Given the description of an element on the screen output the (x, y) to click on. 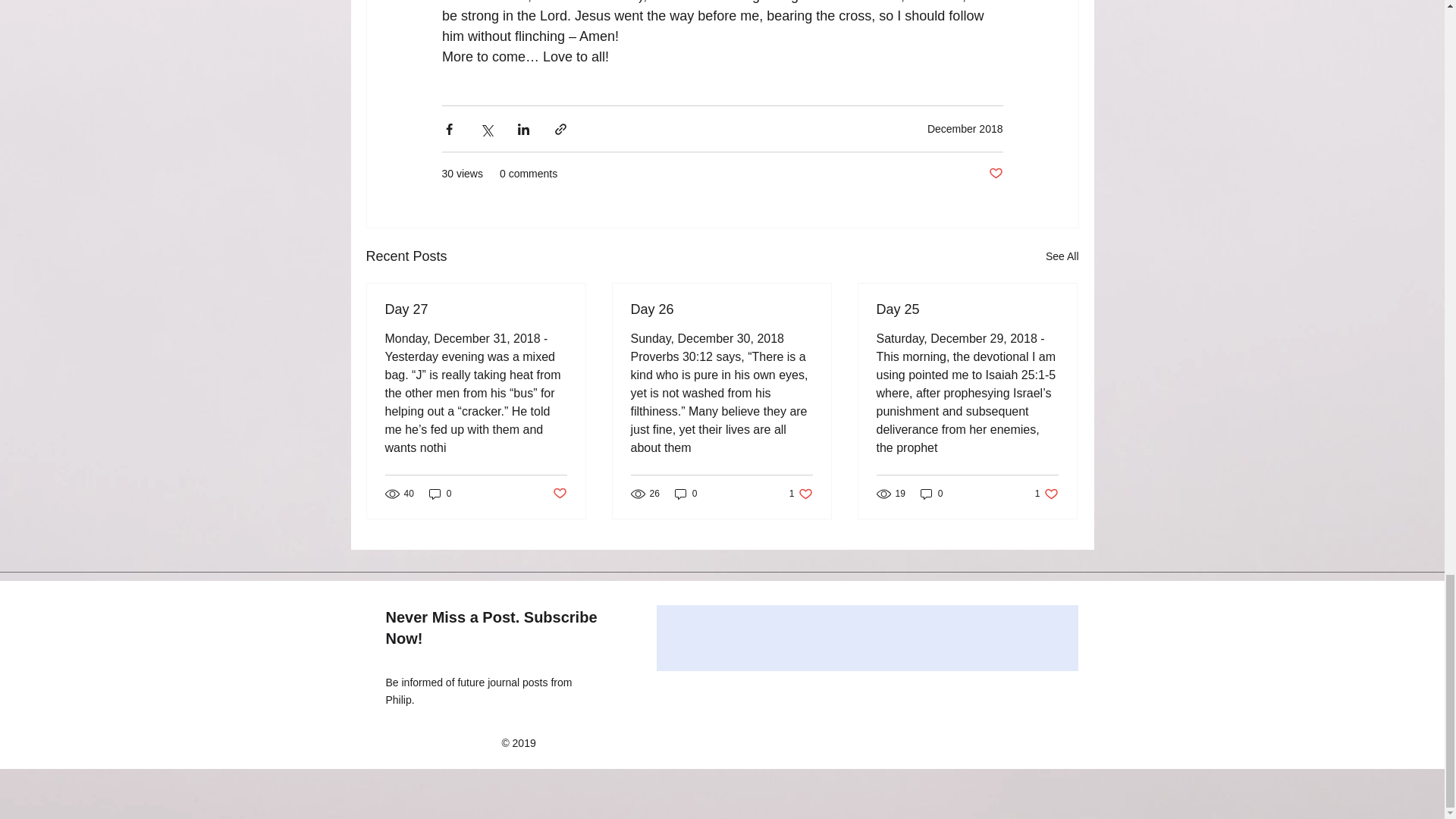
0 (440, 493)
Post not marked as liked (558, 494)
See All (1061, 256)
Day 27 (476, 309)
December 2018 (965, 128)
Day 26 (721, 309)
Post not marked as liked (995, 173)
